Given the description of an element on the screen output the (x, y) to click on. 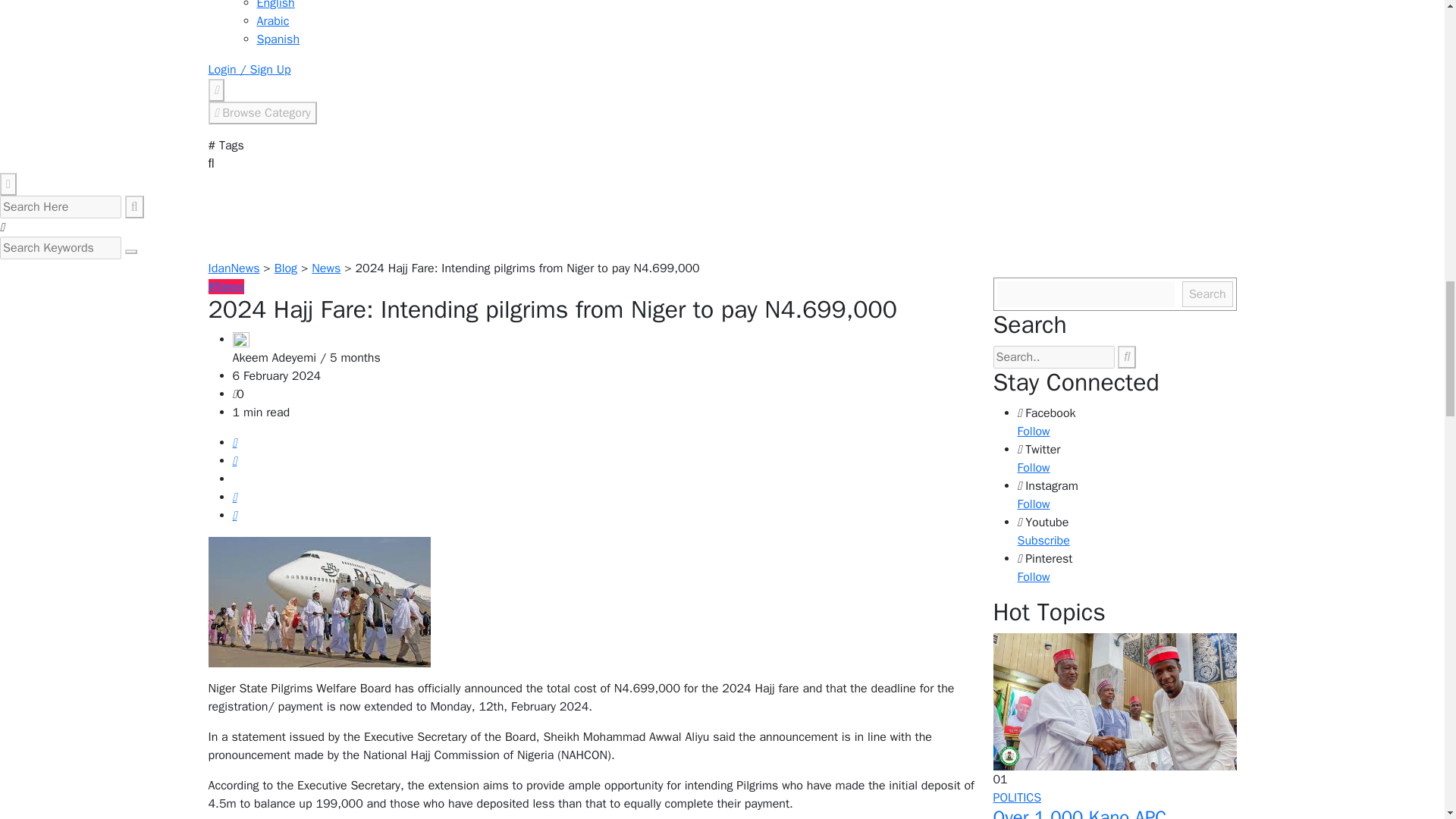
English (275, 5)
Go to IdanNews. (233, 268)
Arabic (272, 20)
Go to the News Category archives. (325, 268)
Go to Blog. (286, 268)
Spanish (277, 38)
